Given the description of an element on the screen output the (x, y) to click on. 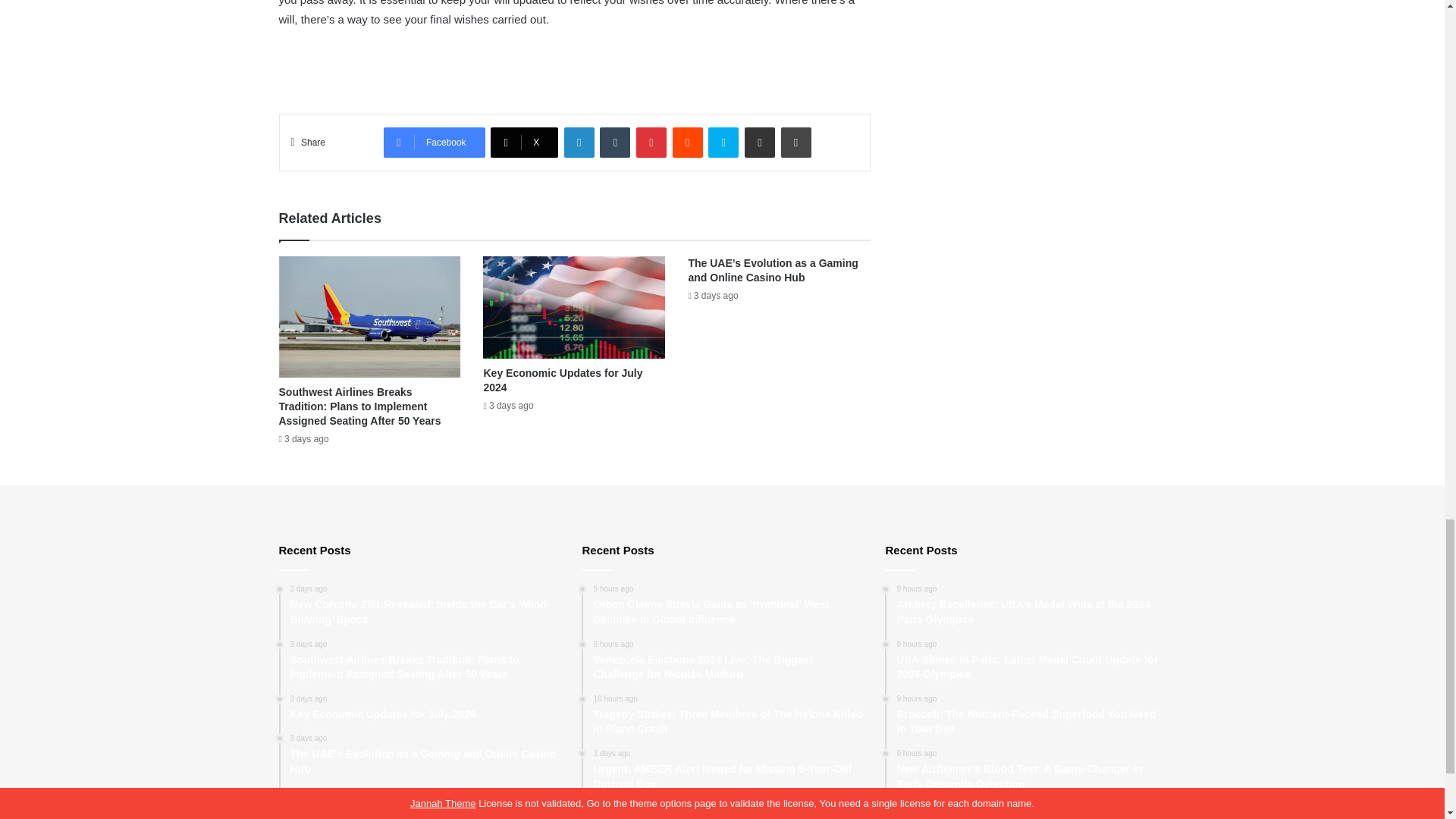
Skype (722, 142)
Reddit (687, 142)
LinkedIn (579, 142)
Facebook (434, 142)
Reddit (687, 142)
Share via Email (759, 142)
Pinterest (651, 142)
LinkedIn (579, 142)
Print (795, 142)
X (523, 142)
X (523, 142)
Skype (722, 142)
Facebook (434, 142)
Tumblr (614, 142)
Tumblr (614, 142)
